Given the description of an element on the screen output the (x, y) to click on. 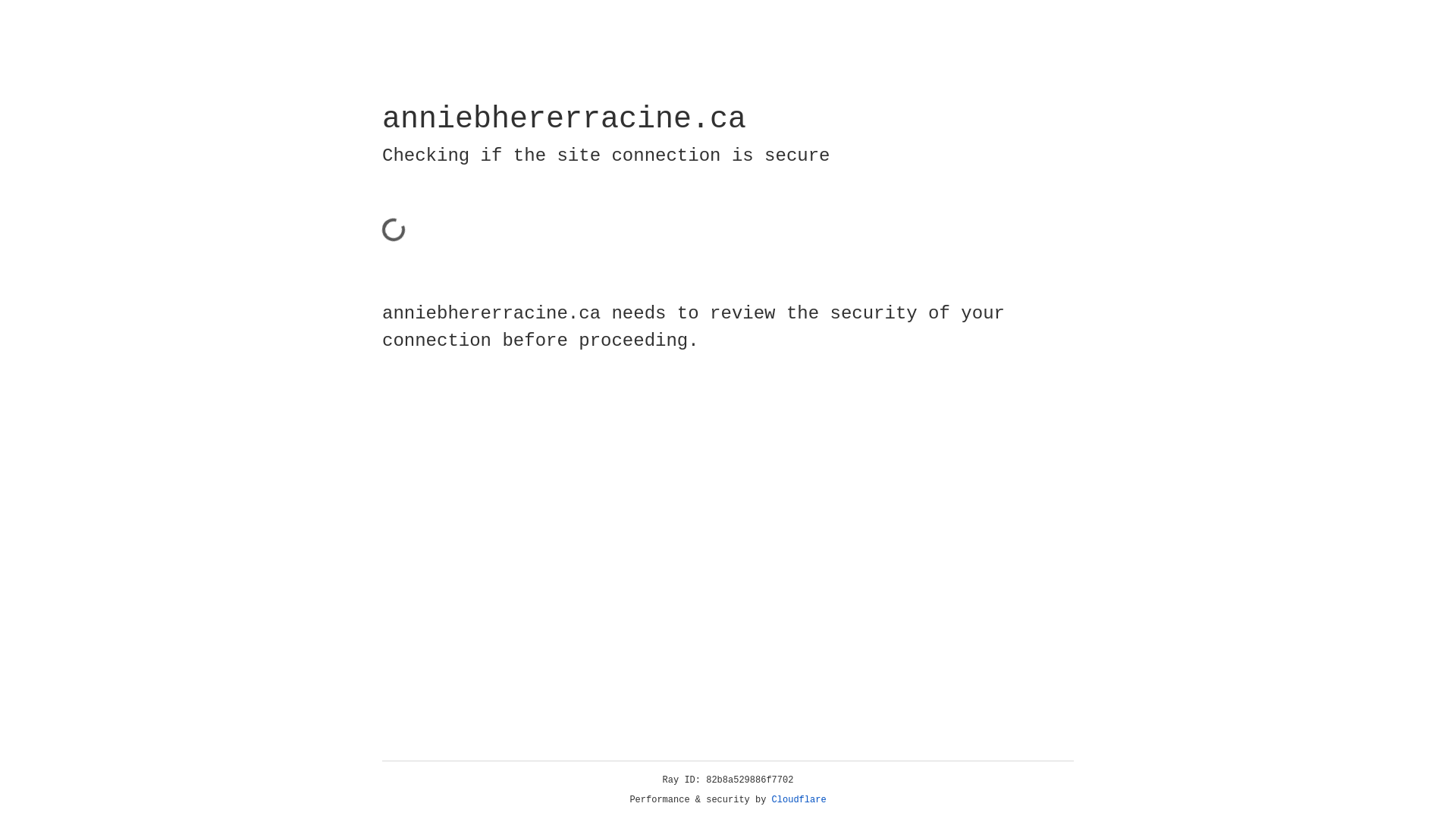
Cloudflare Element type: text (798, 799)
